Given the description of an element on the screen output the (x, y) to click on. 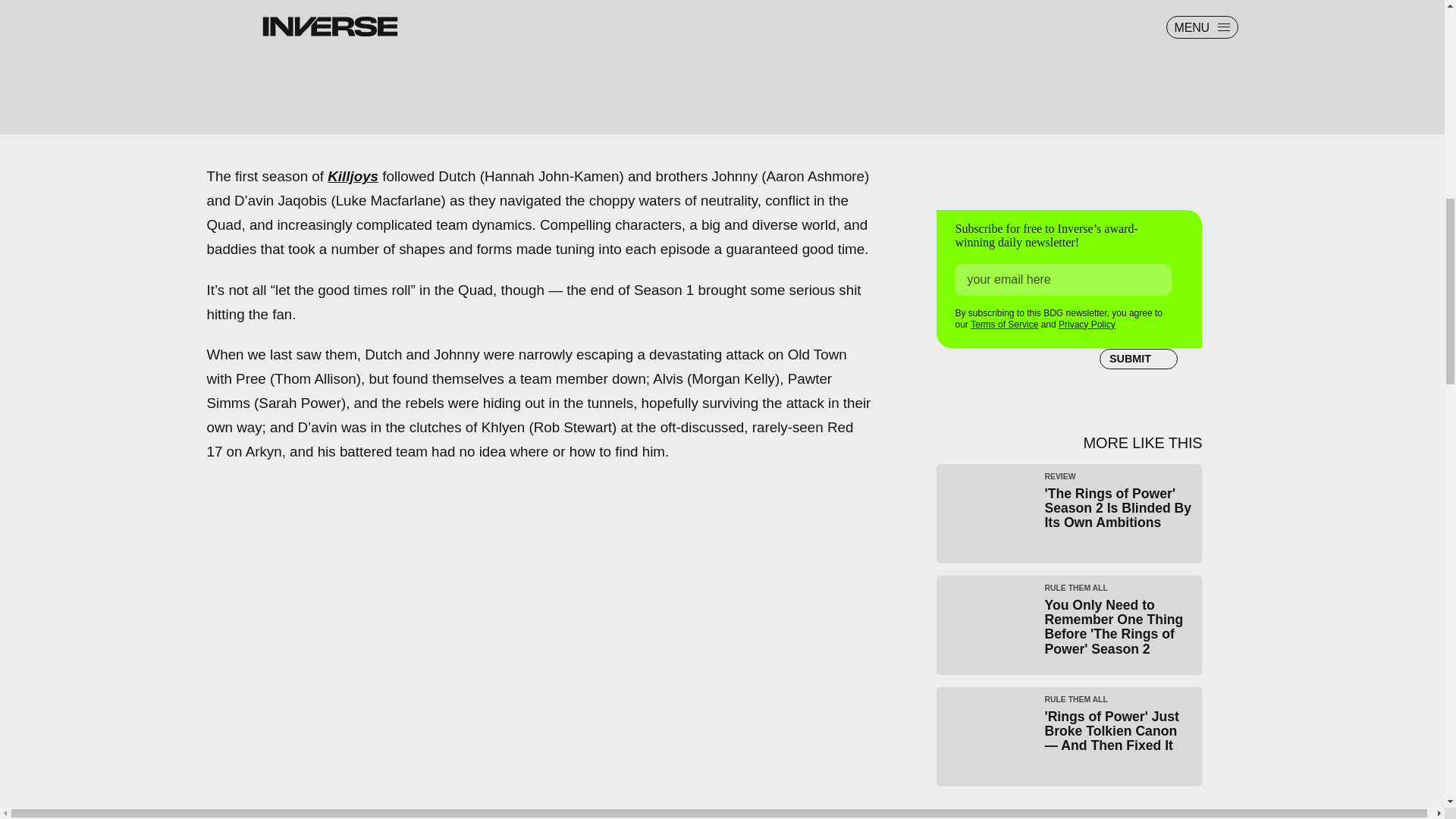
SUBMIT (1138, 353)
Privacy Policy (1086, 321)
Terms of Service (1004, 319)
Killjoys (352, 176)
